Given the description of an element on the screen output the (x, y) to click on. 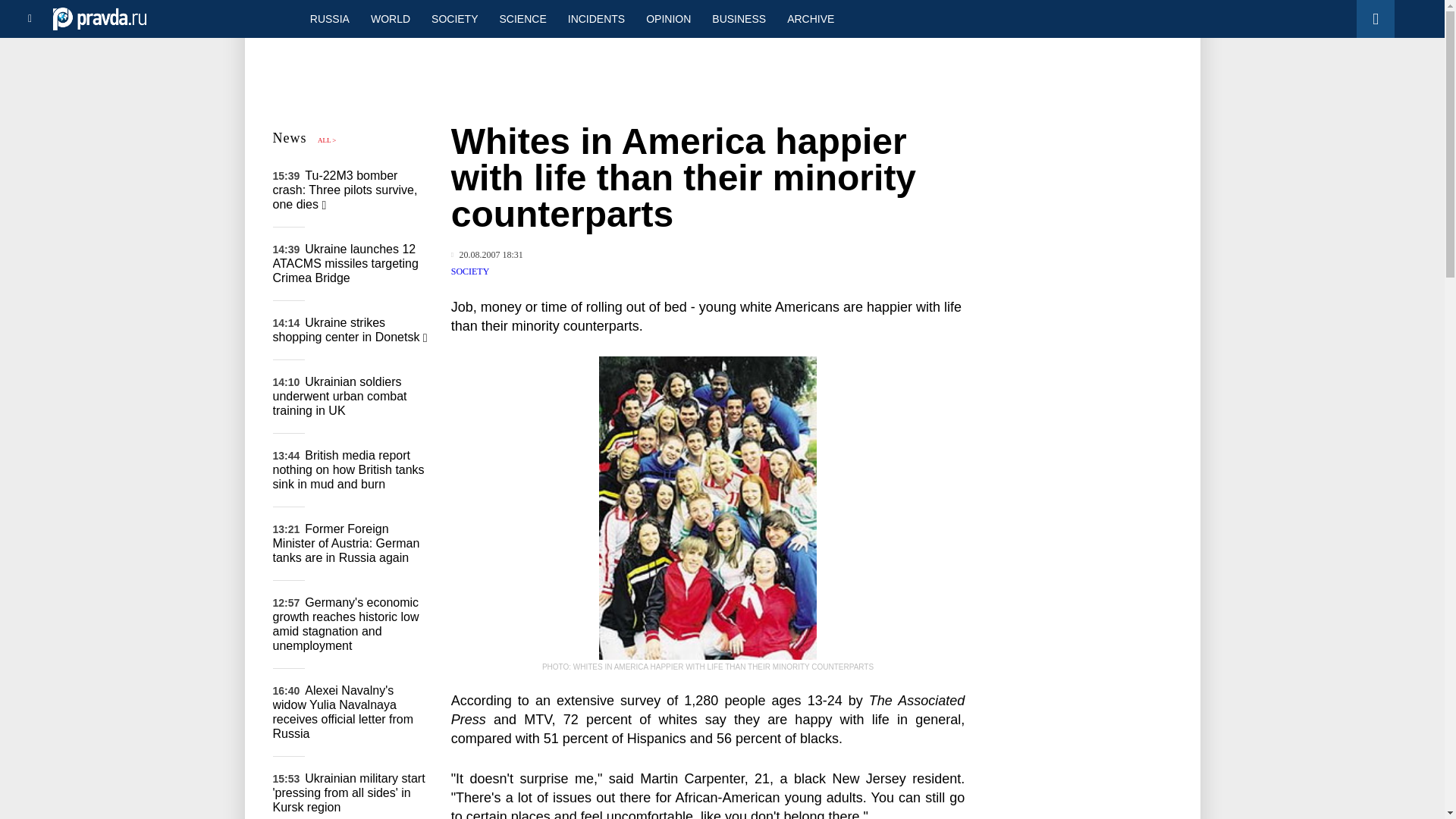
Ukraine launches 12 ATACMS missiles targeting Crimea Bridge (346, 263)
OPINION (667, 18)
WORLD (389, 18)
Published (486, 255)
INCIDENTS (595, 18)
Tu-22M3 bomber crash: Three pilots survive, one dies (345, 189)
News (290, 137)
